Given the description of an element on the screen output the (x, y) to click on. 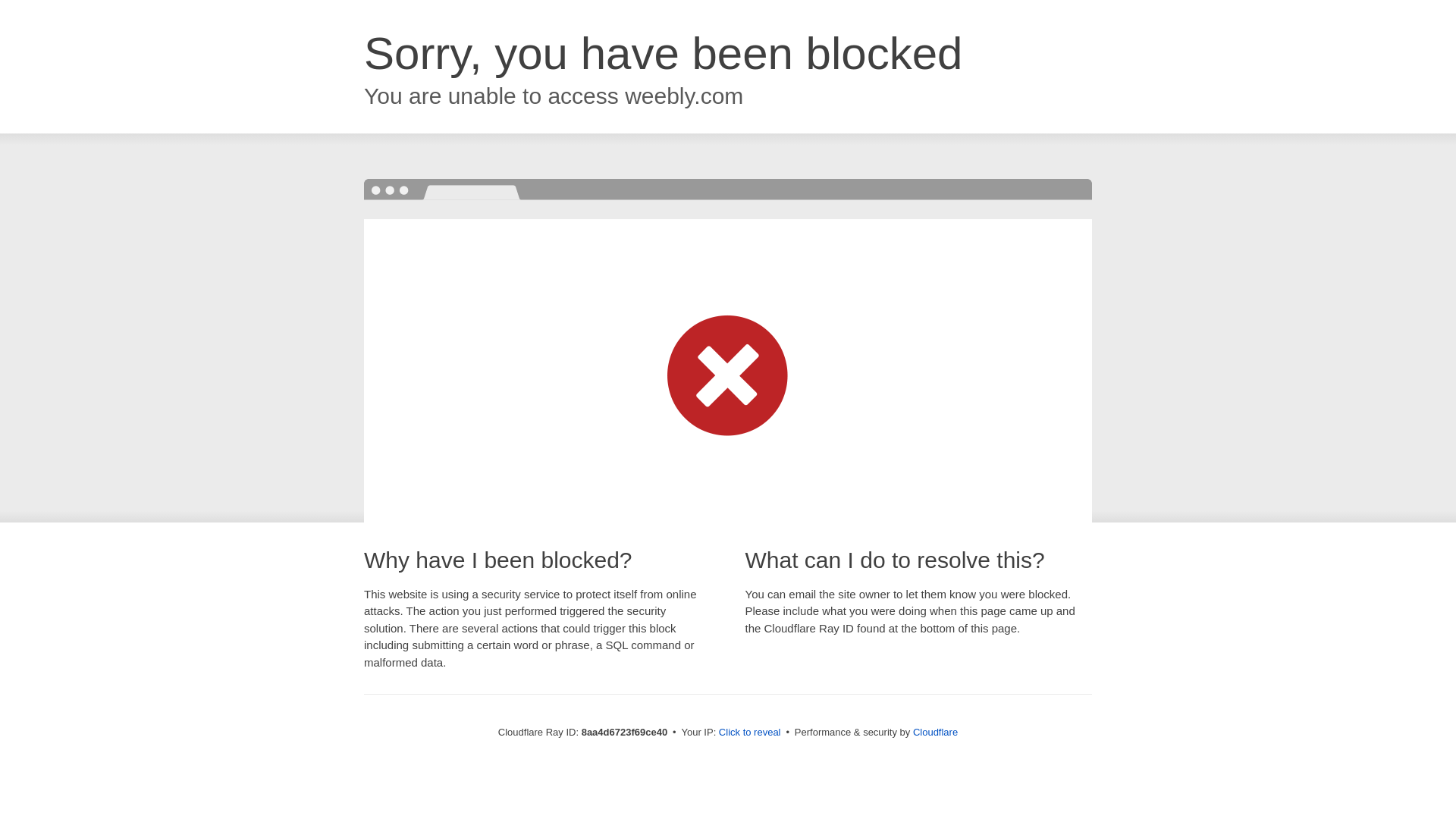
Click to reveal (749, 732)
Cloudflare (935, 731)
